Given the description of an element on the screen output the (x, y) to click on. 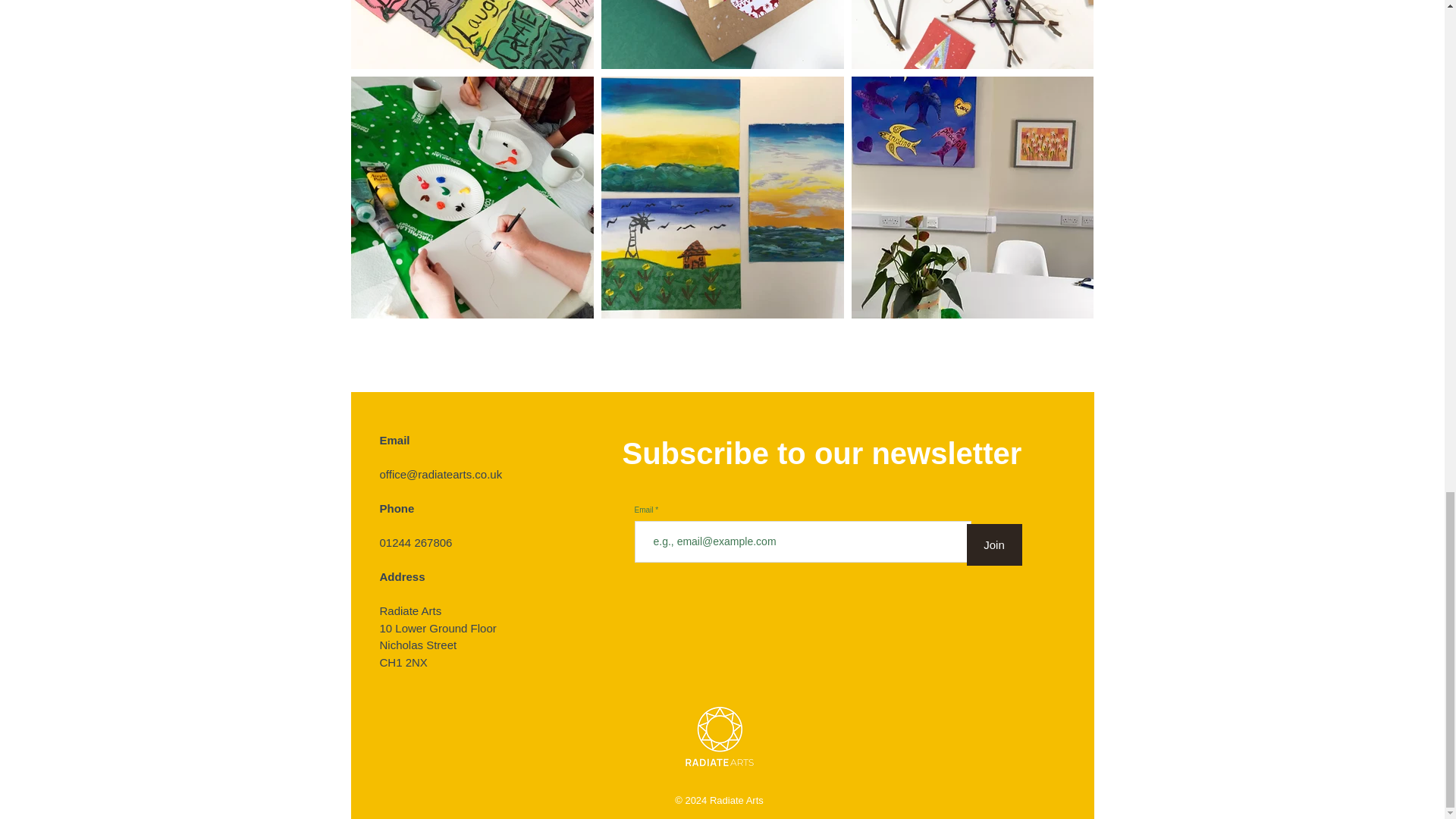
Join (994, 544)
